Given the description of an element on the screen output the (x, y) to click on. 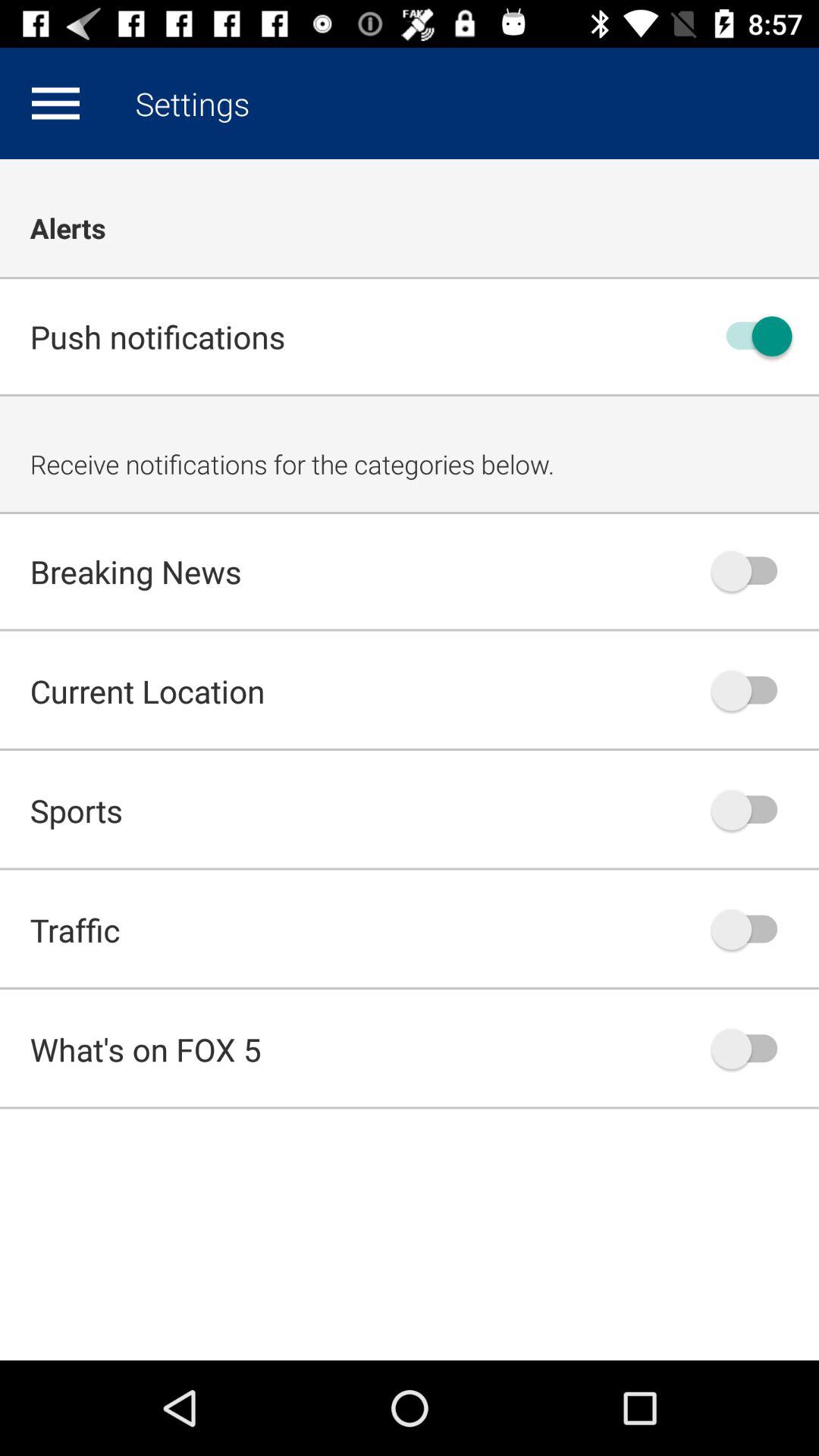
open app above the alerts icon (55, 103)
